Given the description of an element on the screen output the (x, y) to click on. 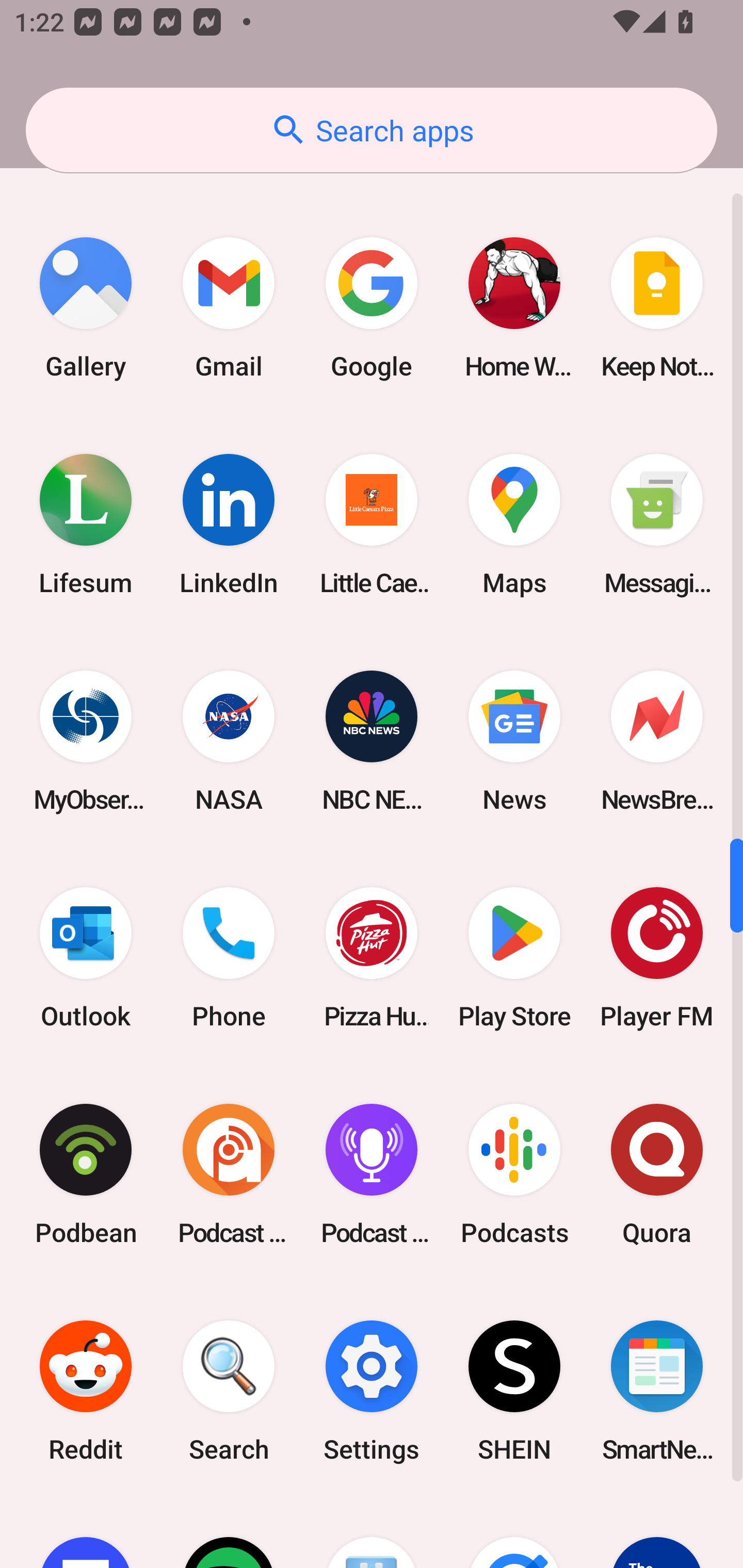
  Search apps (371, 130)
Gallery (85, 307)
Gmail (228, 307)
Google (371, 307)
Home Workout (514, 307)
Keep Notes (656, 307)
Lifesum (85, 524)
LinkedIn (228, 524)
Little Caesars Pizza (371, 524)
Maps (514, 524)
Messaging (656, 524)
MyObservatory (85, 741)
NASA (228, 741)
NBC NEWS (371, 741)
News (514, 741)
NewsBreak (656, 741)
Outlook (85, 957)
Phone (228, 957)
Pizza Hut HK & Macau (371, 957)
Play Store (514, 957)
Player FM (656, 957)
Podbean (85, 1174)
Podcast Addict (228, 1174)
Podcast Player (371, 1174)
Podcasts (514, 1174)
Quora (656, 1174)
Reddit (85, 1390)
Search (228, 1390)
Settings (371, 1390)
SHEIN (514, 1390)
SmartNews (656, 1390)
